Given the description of an element on the screen output the (x, y) to click on. 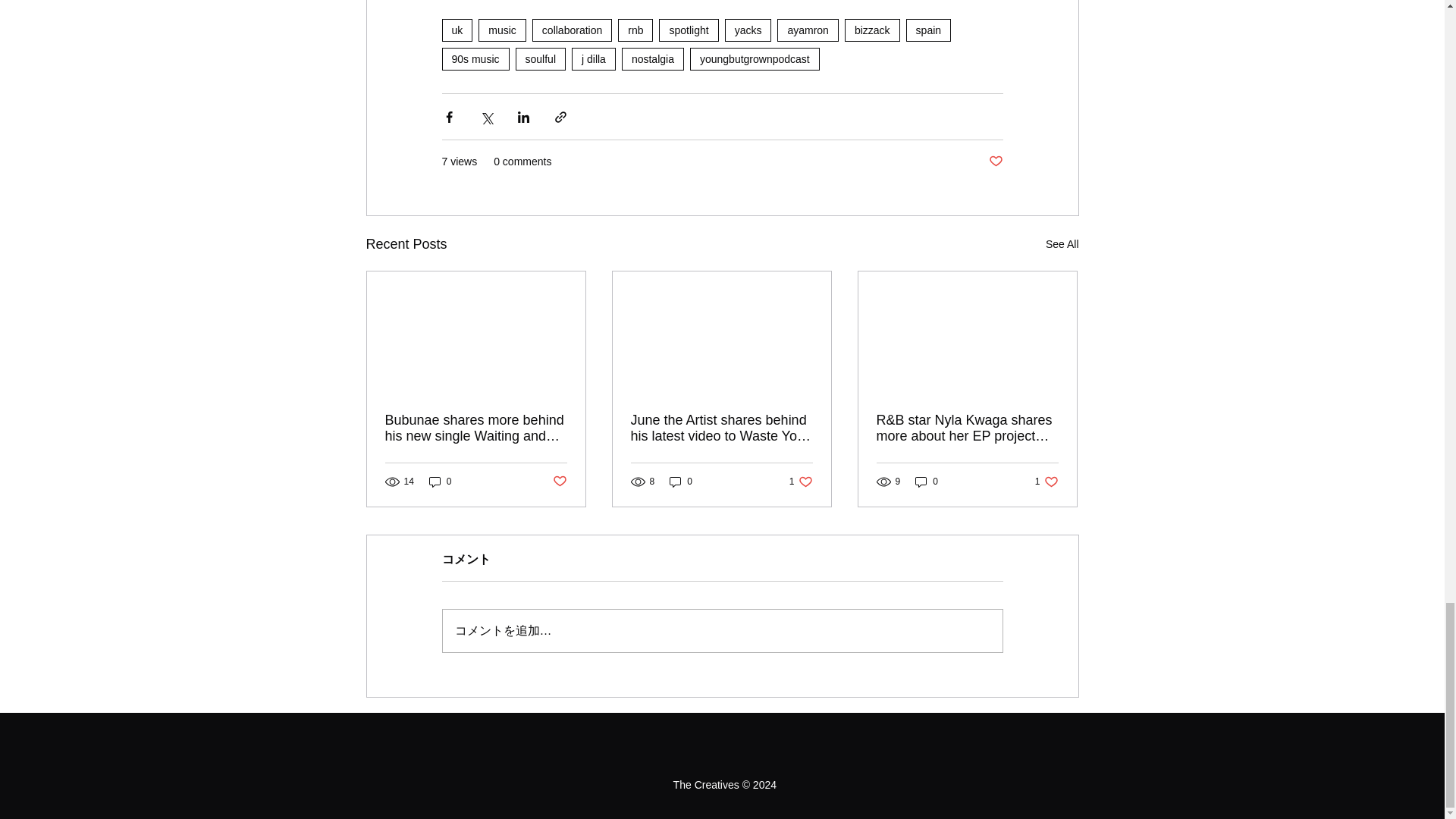
0 (440, 481)
ayamron (807, 29)
nostalgia (652, 58)
soulful (540, 58)
spotlight (688, 29)
spain (927, 29)
uk (456, 29)
yacks (748, 29)
90s music (474, 58)
rnb (634, 29)
collaboration (571, 29)
youngbutgrownpodcast (754, 58)
See All (1061, 244)
music (502, 29)
